Given the description of an element on the screen output the (x, y) to click on. 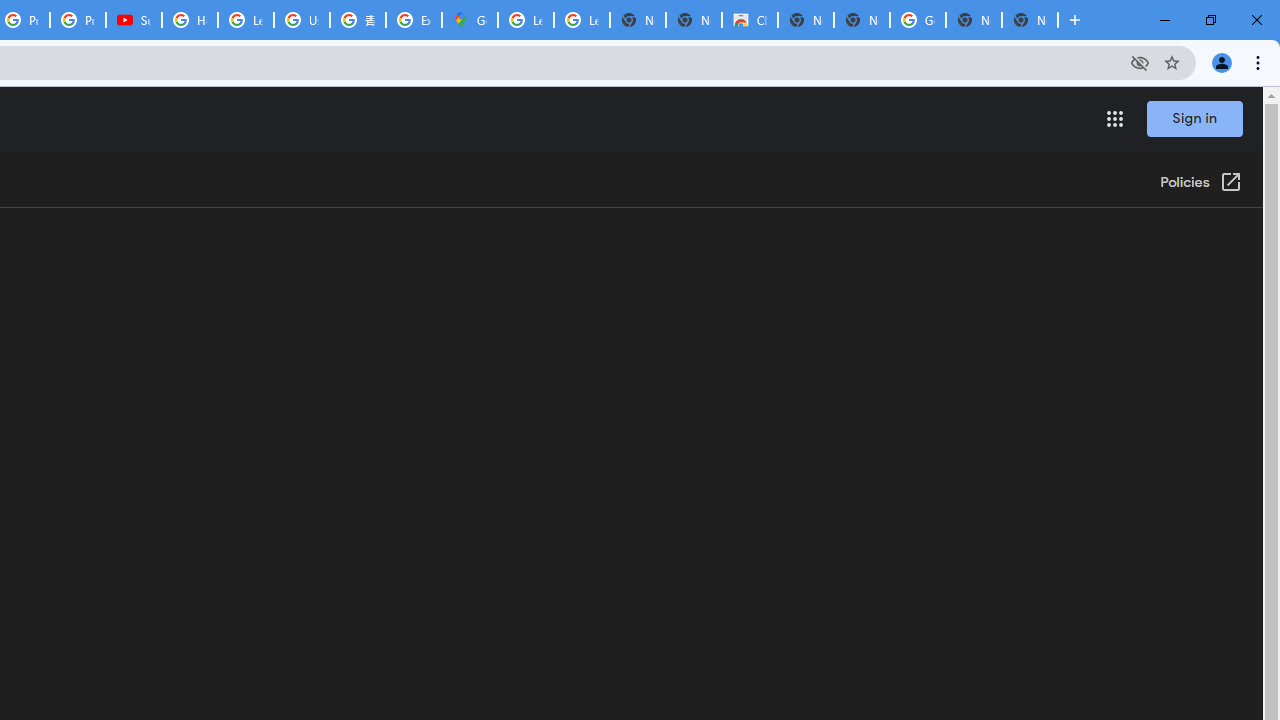
Policies (Open in a new window) (1200, 183)
How Chrome protects your passwords - Google Chrome Help (189, 20)
Google Images (917, 20)
Google Maps (469, 20)
New Tab (1030, 20)
